Given the description of an element on the screen output the (x, y) to click on. 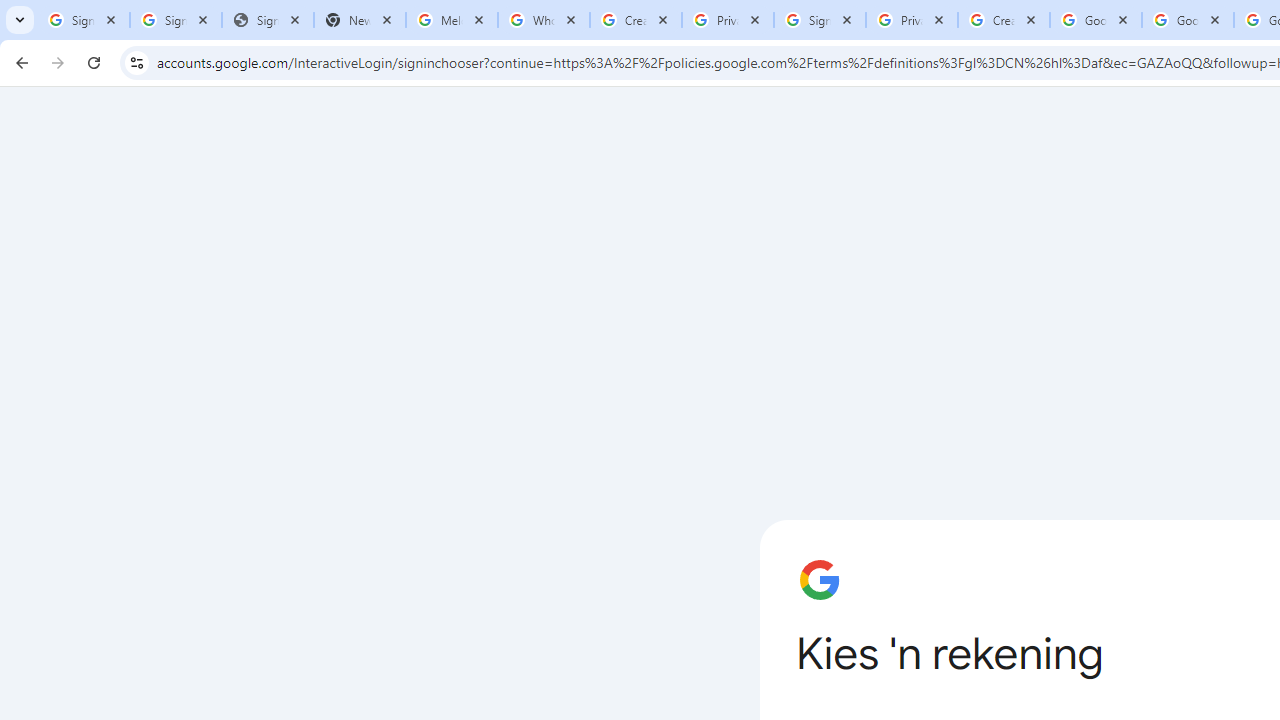
Sign in - Google Accounts (820, 20)
Who is my administrator? - Google Account Help (543, 20)
Sign in - Google Accounts (175, 20)
Sign in - Google Accounts (83, 20)
